Given the description of an element on the screen output the (x, y) to click on. 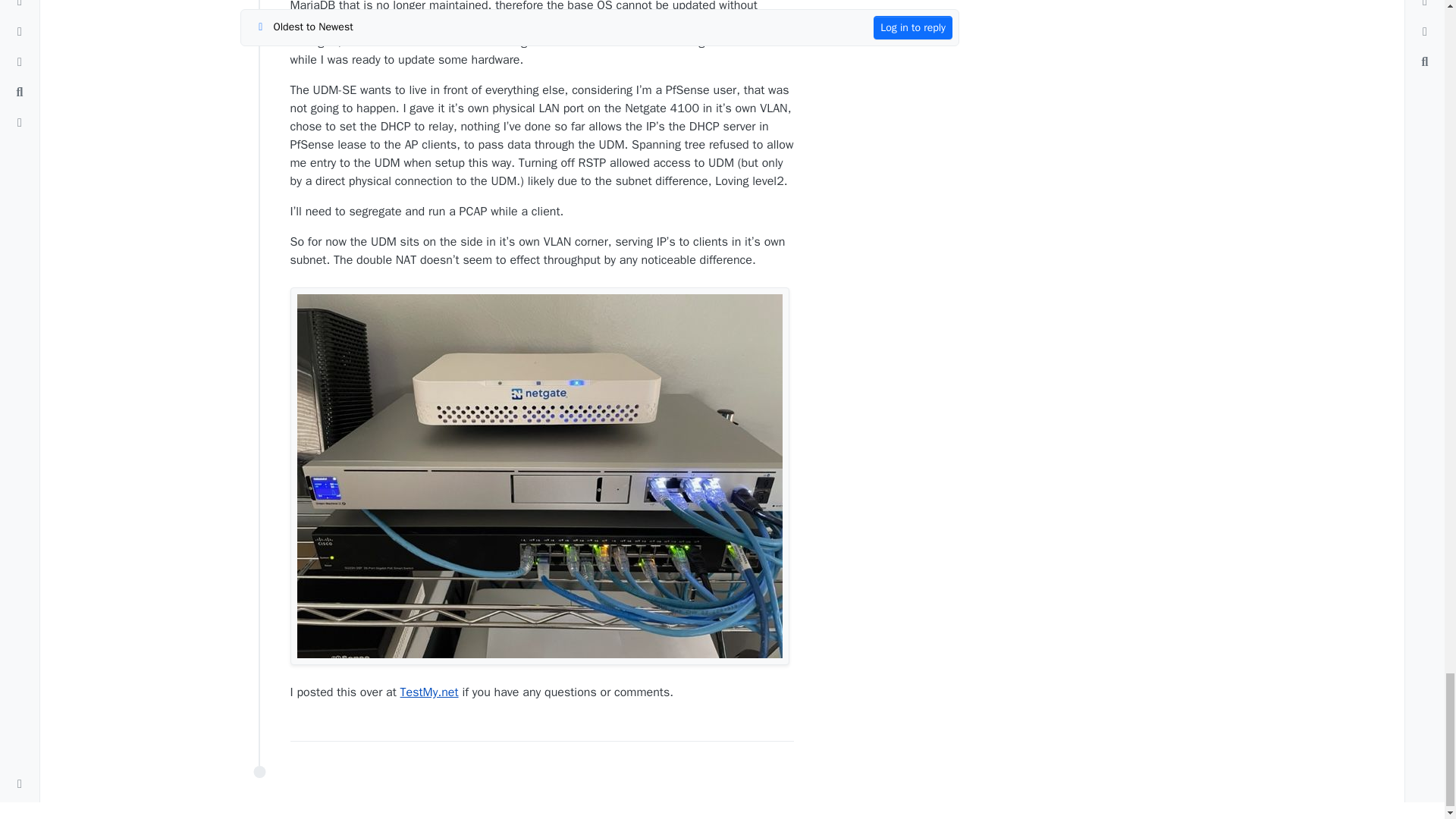
TestMy.net (429, 692)
